Given the description of an element on the screen output the (x, y) to click on. 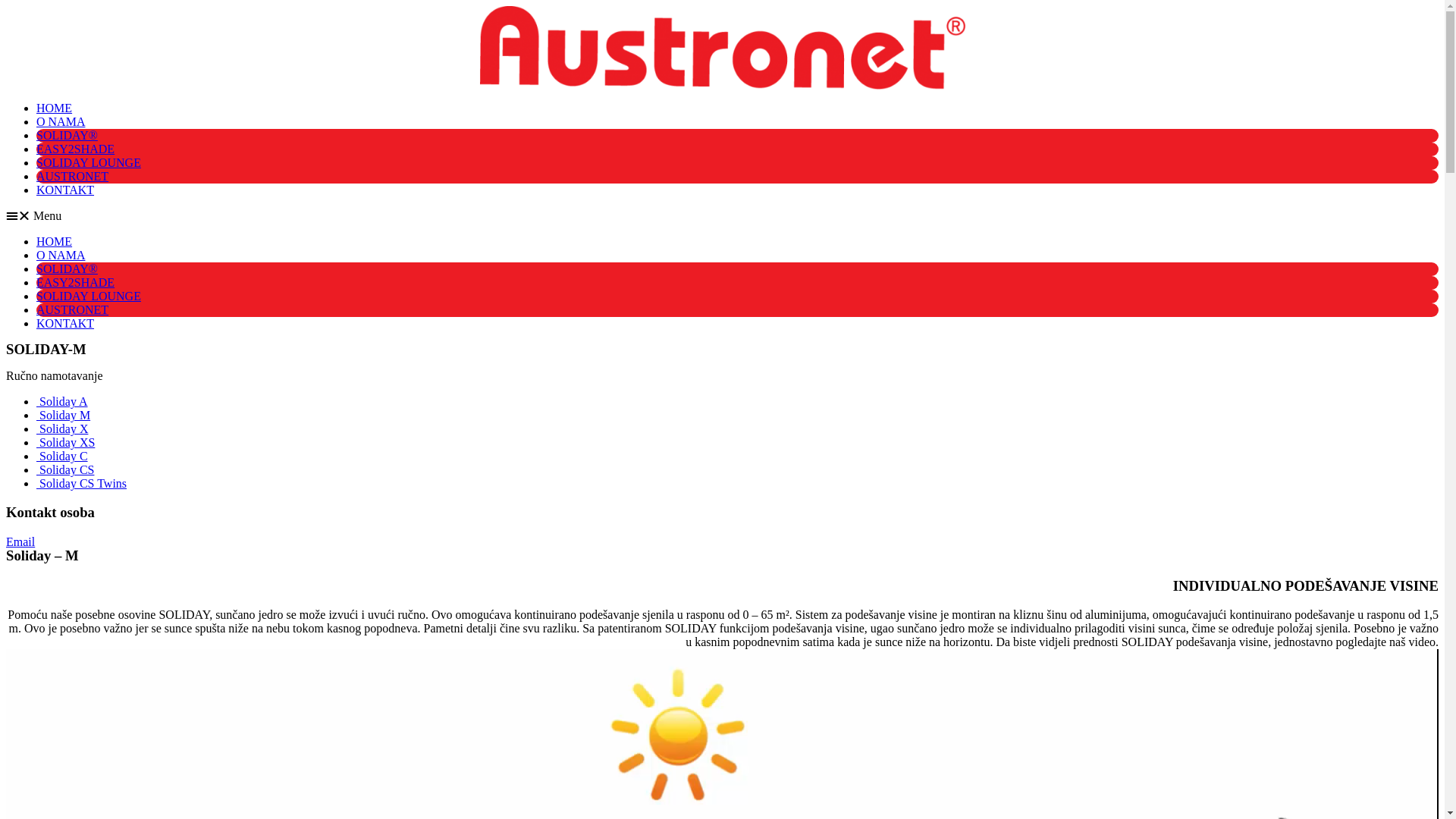
O NAMA Element type: text (60, 121)
AUSTRONET Element type: text (72, 309)
 Soliday C Element type: text (61, 455)
EASY2SHADE Element type: text (75, 282)
HOME Element type: text (54, 241)
 Soliday CS Twins Element type: text (81, 482)
 Soliday X Element type: text (61, 428)
KONTAKT Element type: text (65, 322)
SOLIDAY LOUNGE Element type: text (88, 162)
Email Element type: text (20, 541)
SOLIDAY LOUNGE Element type: text (88, 295)
AUSTRONET Element type: text (72, 175)
EASY2SHADE Element type: text (75, 148)
O NAMA Element type: text (60, 254)
 Soliday M Element type: text (63, 414)
 Soliday CS Element type: text (65, 469)
HOME Element type: text (54, 107)
KONTAKT Element type: text (65, 189)
 Soliday A Element type: text (61, 401)
 Soliday XS Element type: text (65, 442)
